Given the description of an element on the screen output the (x, y) to click on. 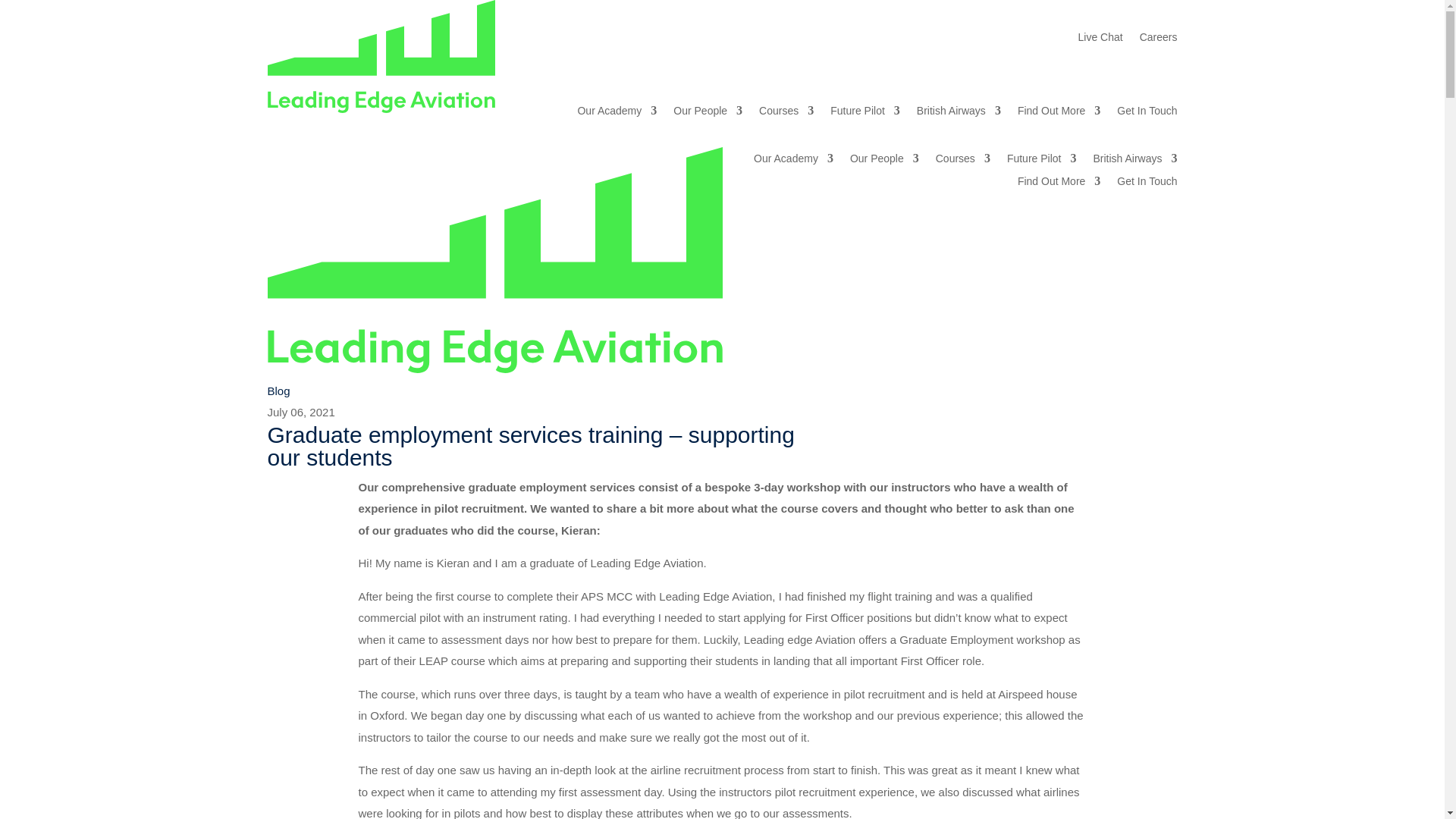
Careers (1158, 39)
Our Academy (616, 113)
Live Chat (1100, 39)
Courses (785, 113)
Our People (707, 113)
British Airways (959, 113)
Future Pilot (864, 113)
Find Out More (1058, 113)
